Given the description of an element on the screen output the (x, y) to click on. 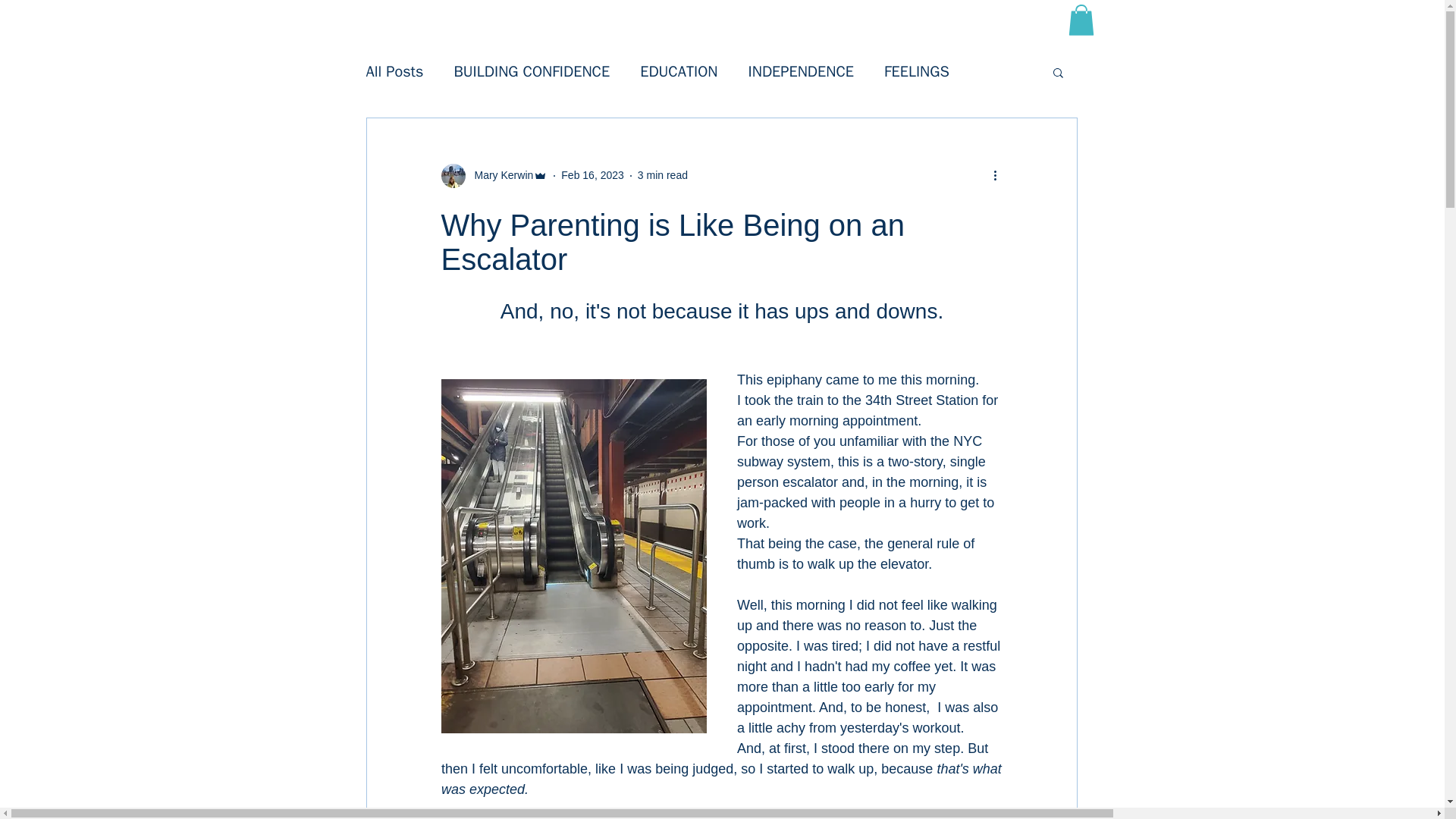
Feb 16, 2023 (592, 174)
Mary Kerwin (499, 175)
INDEPENDENCE (800, 71)
BUILDING CONFIDENCE (531, 71)
Mary Kerwin (494, 175)
All Posts (394, 71)
FEELINGS (916, 71)
EDUCATION (678, 71)
3 min read (662, 174)
